Given the description of an element on the screen output the (x, y) to click on. 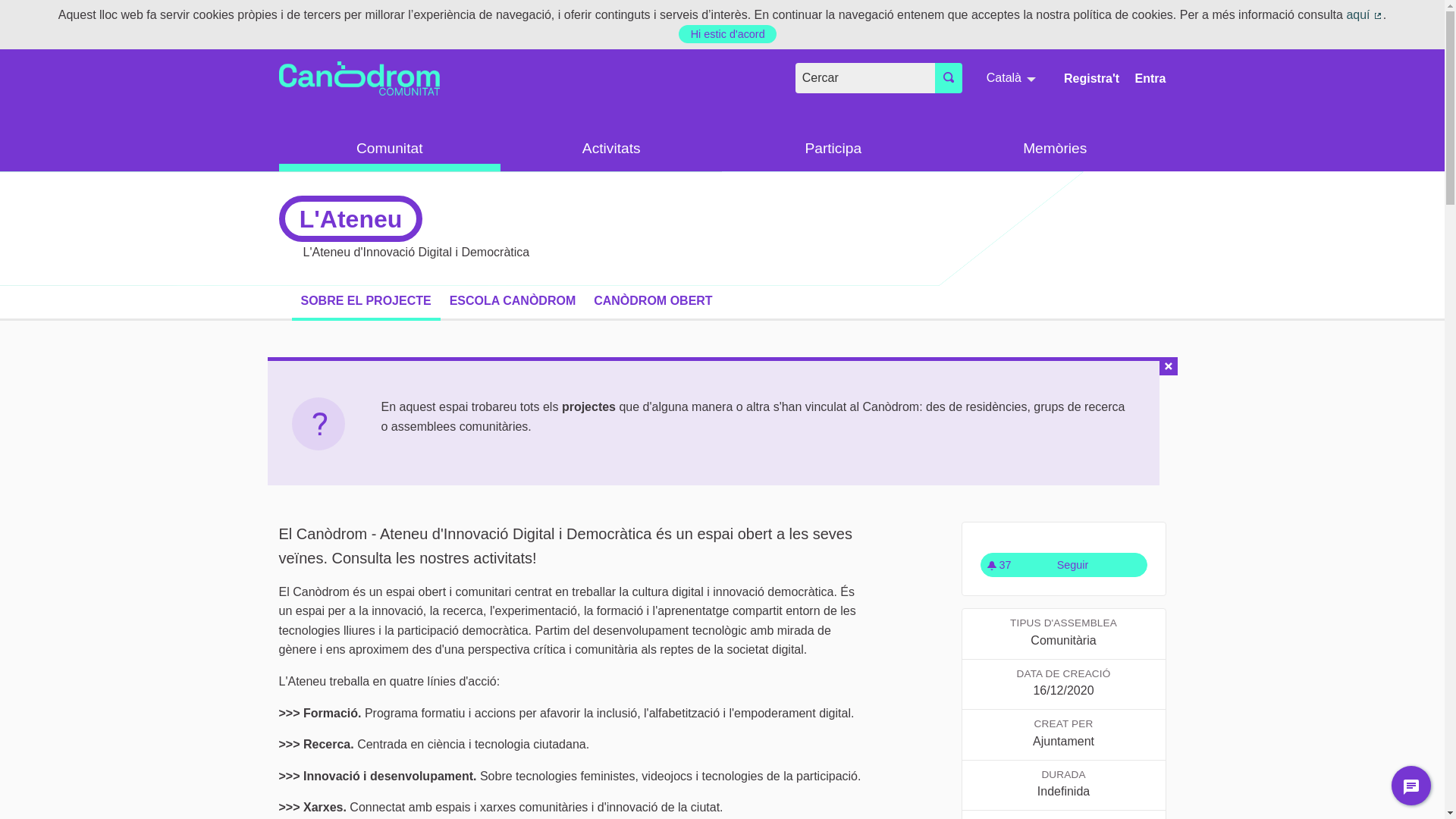
Hi estic d'acord Element type: text (727, 34)
Comunitat Element type: text (390, 149)
Cercar Element type: hover (948, 77)
Activitats Element type: text (611, 149)
Registra't Element type: text (1091, 78)
Participa Element type: text (832, 149)
Entra Element type: text (1150, 78)
37
37 seguidores
Seguir
L'Ateneu Element type: text (1062, 564)
Cercar Element type: hover (865, 77)
SOBRE EL PROJECTE Element type: text (365, 300)
